Given the description of an element on the screen output the (x, y) to click on. 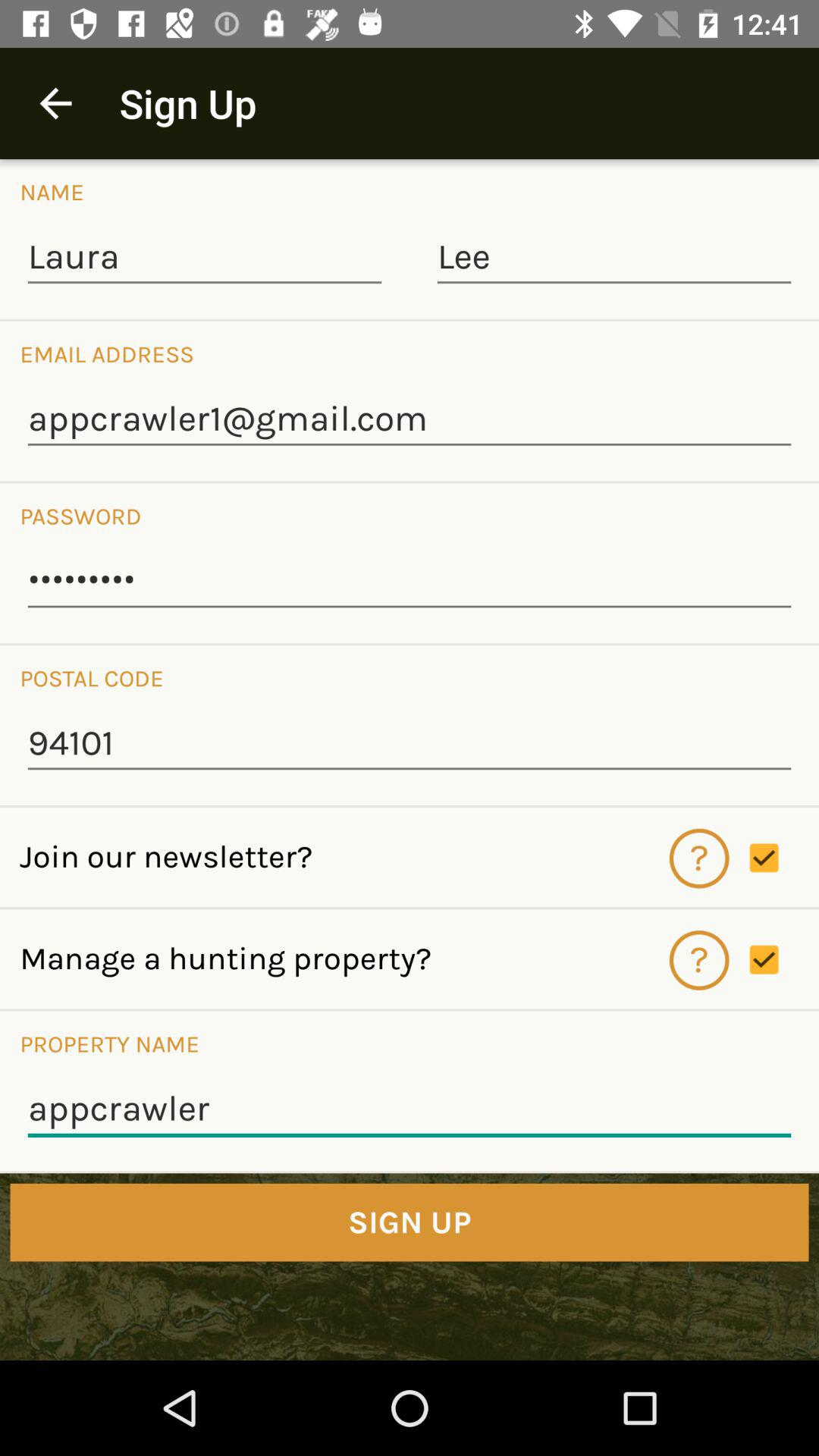
click to tick in the box (784, 959)
